Given the description of an element on the screen output the (x, y) to click on. 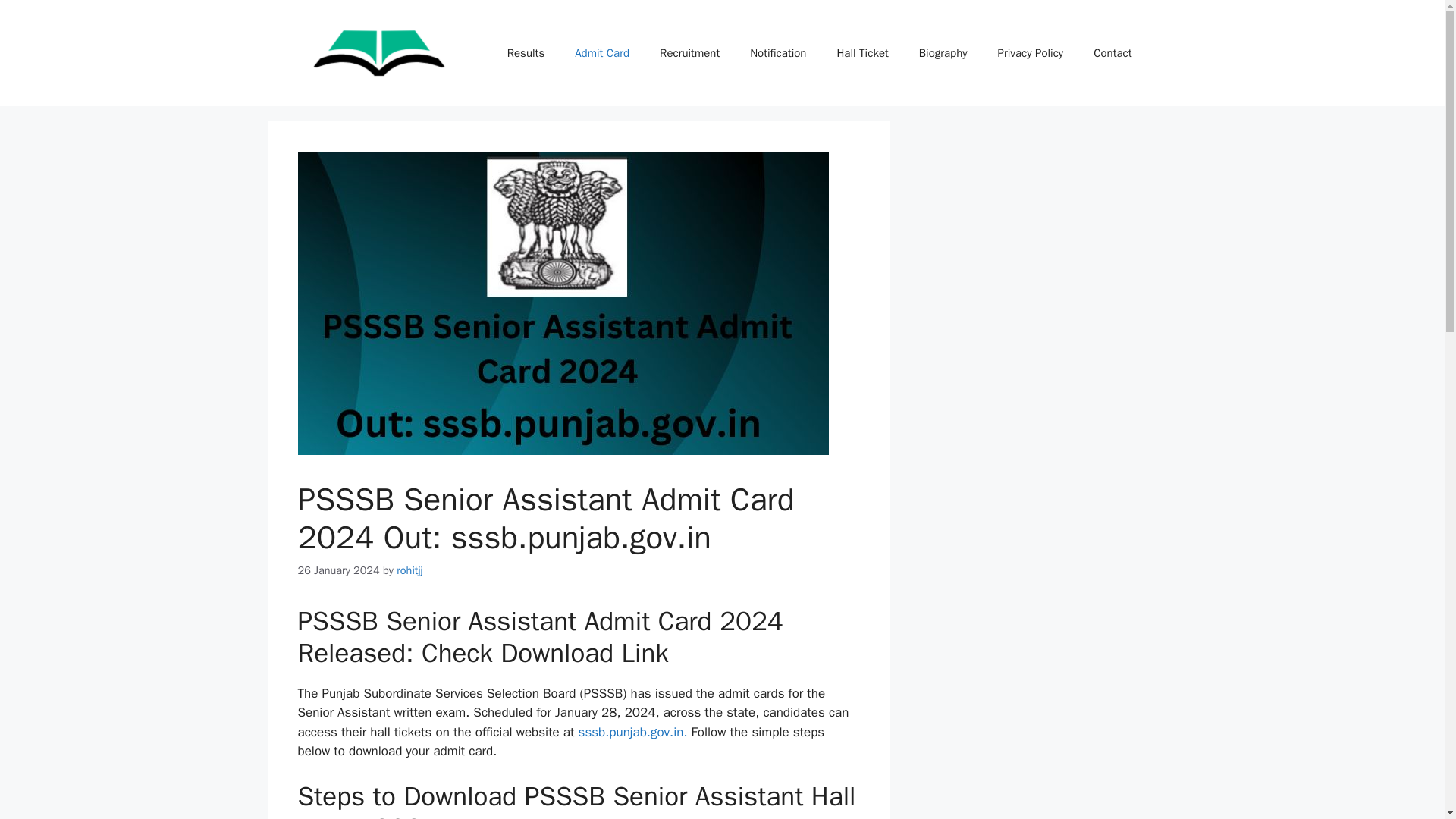
Biography (943, 53)
Results (525, 53)
Privacy Policy (1030, 53)
Notification (778, 53)
sssb.punjab.gov.in. (632, 731)
Hall Ticket (861, 53)
Admit Card (602, 53)
Contact (1112, 53)
Recruitment (690, 53)
View all posts by rohitjj (409, 570)
